Given the description of an element on the screen output the (x, y) to click on. 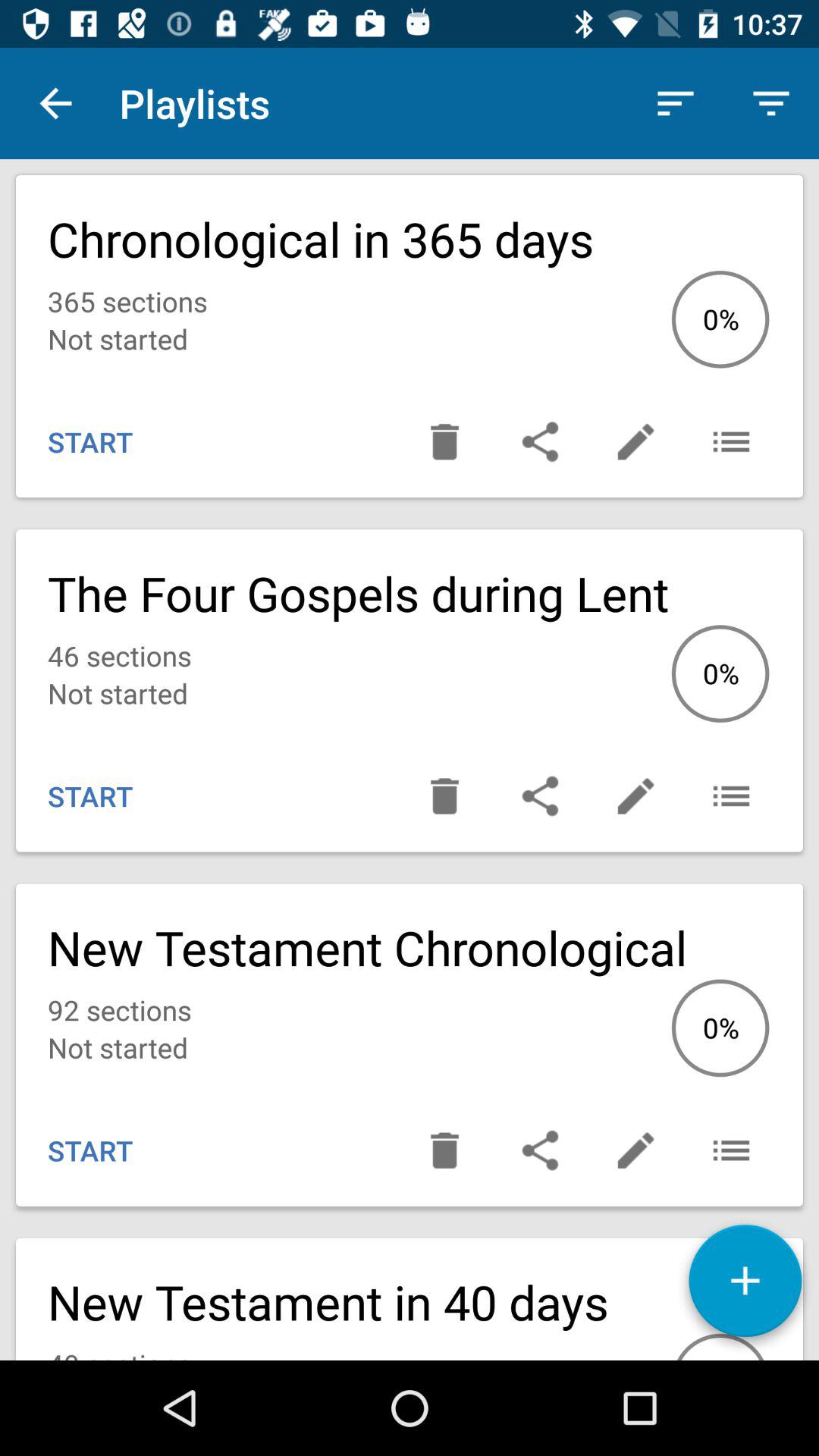
choose icon to the right of the 40 sections icon (745, 1286)
